Given the description of an element on the screen output the (x, y) to click on. 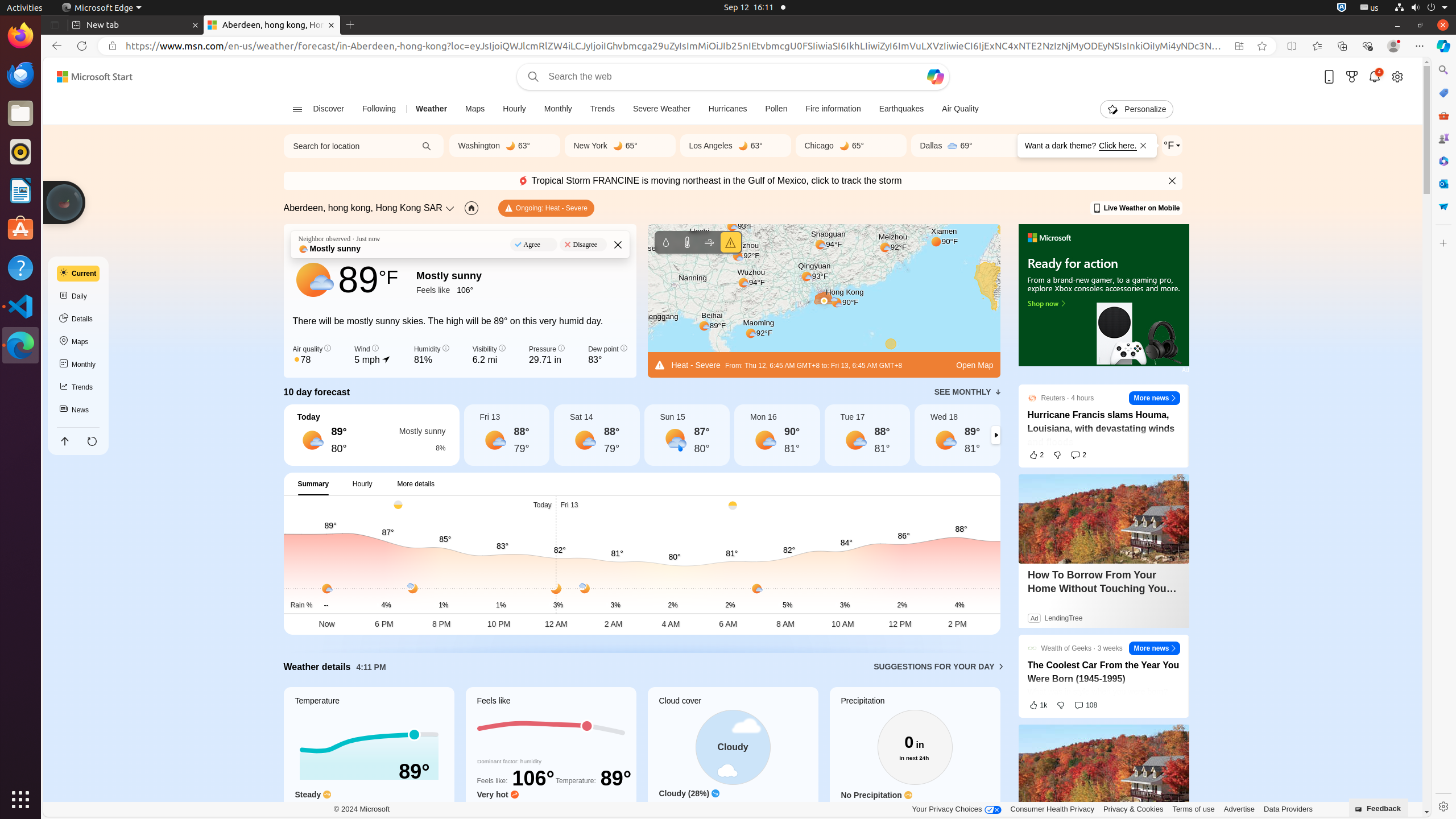
Fri 13 Mostly sunny 88° 79° Element type: push-button (506, 434)
Microsoft Edge Element type: menu (101, 7)
Earthquakes Element type: link (901, 108)
Open Copilot Element type: push-button (934, 76)
Precipitation Element type: push-button (665, 242)
